Given the description of an element on the screen output the (x, y) to click on. 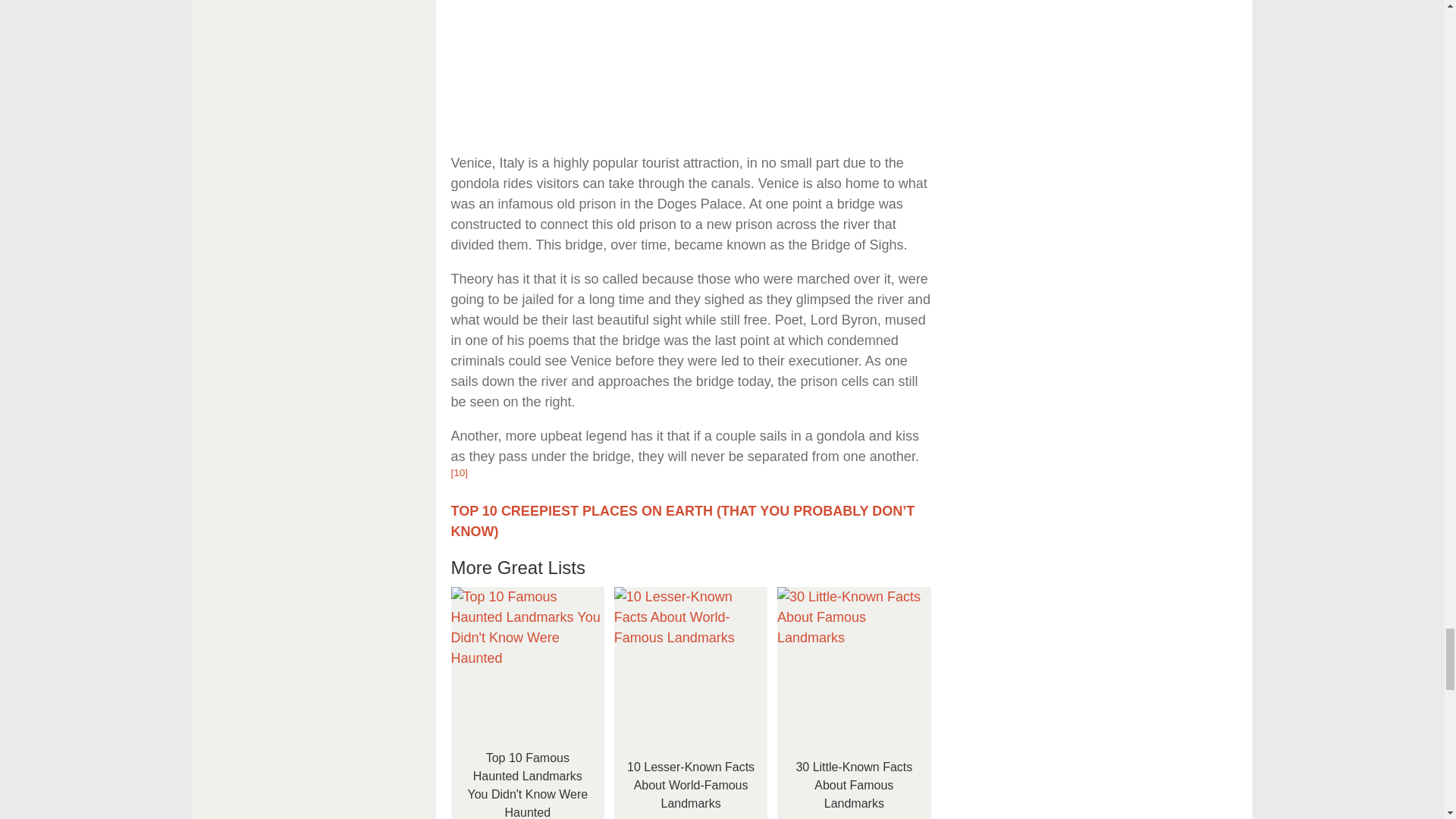
Top 10 Famous Haunted Landmarks You Didn't Know Were Haunted (526, 664)
30 Little-Known Facts About Famous Landmarks (854, 664)
10 Lesser-Known Facts About World-Famous Landmarks (691, 664)
